Given the description of an element on the screen output the (x, y) to click on. 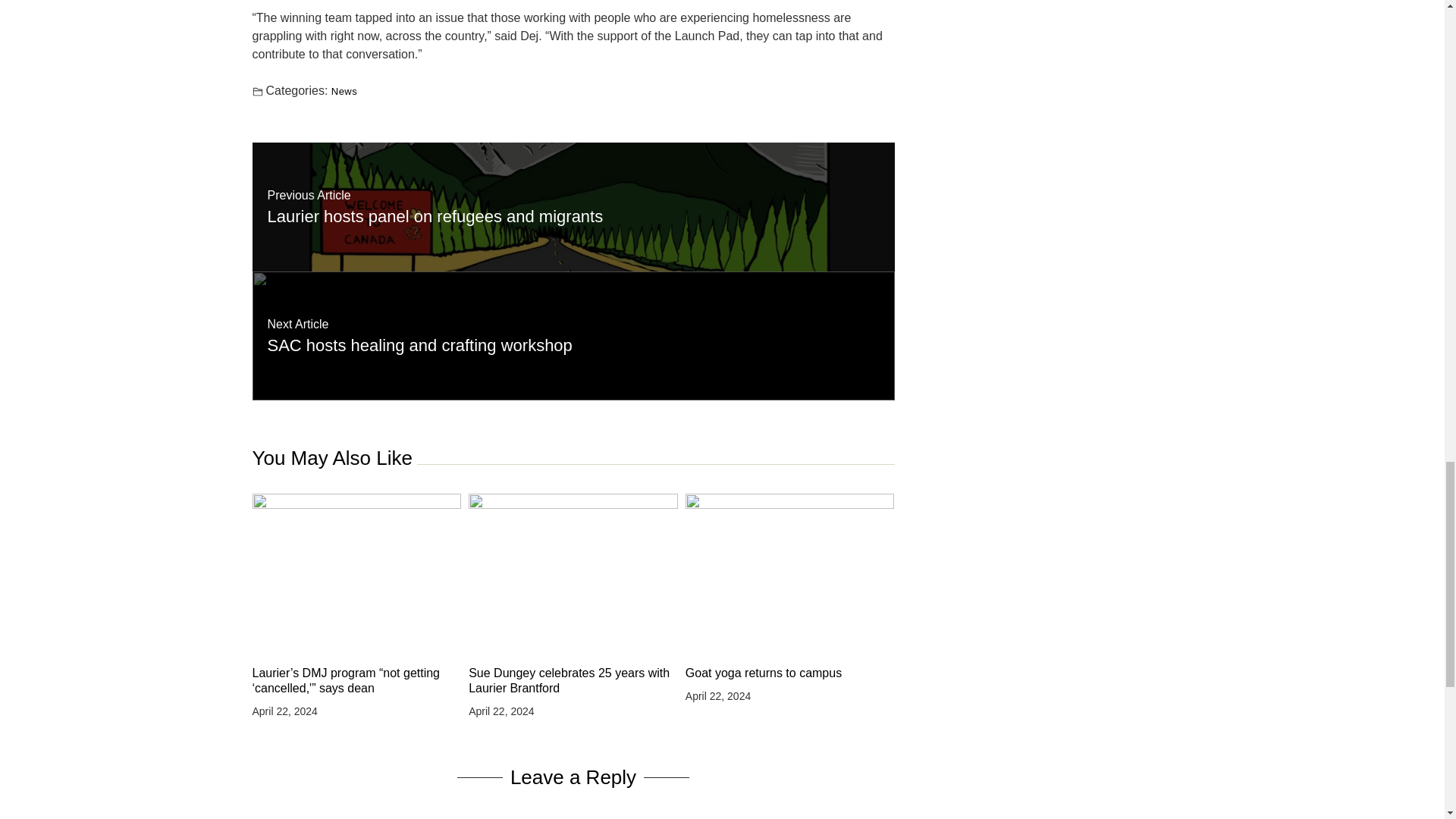
Sue Dungey celebrates 25 years with Laurier Brantford (573, 680)
News (343, 90)
Goat yoga returns to campus (790, 672)
